Given the description of an element on the screen output the (x, y) to click on. 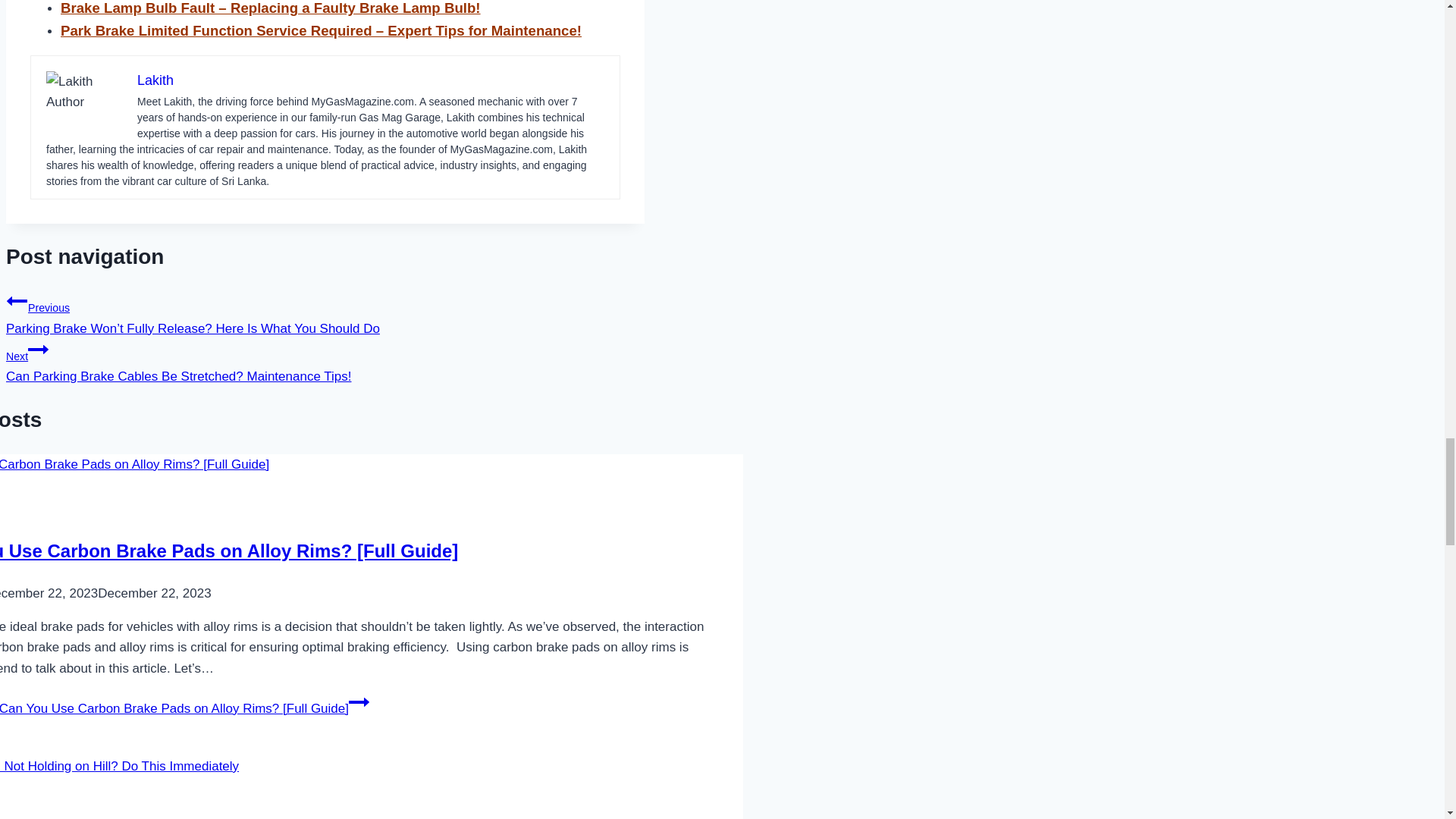
Lakith (154, 79)
Continue (37, 349)
Continue (359, 701)
Previous (16, 301)
